Given the description of an element on the screen output the (x, y) to click on. 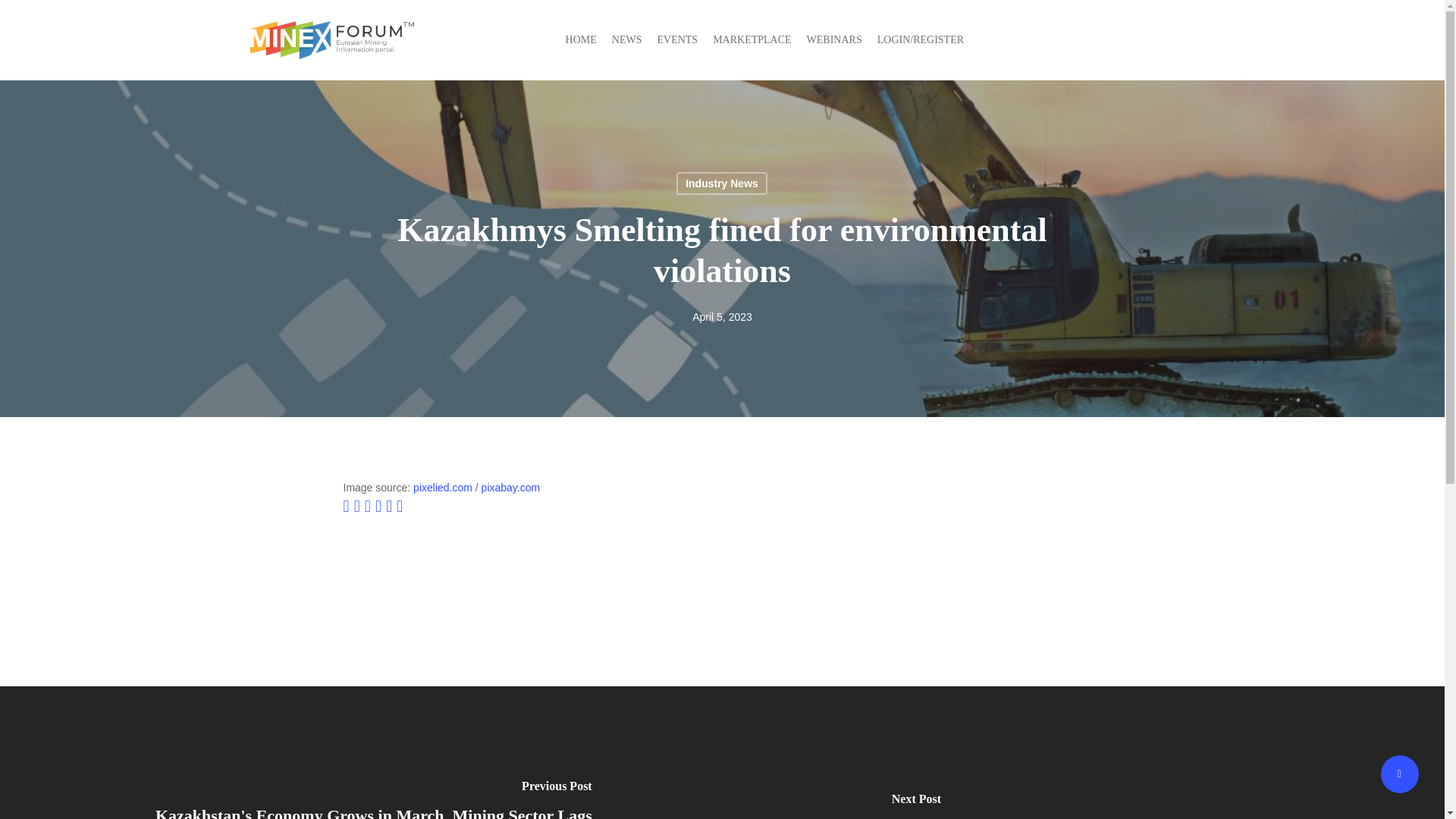
WEBINARS (833, 39)
pixabay.com (510, 487)
search (1145, 39)
pixelied.com (442, 487)
Menu (1184, 39)
MARKETPLACE (751, 39)
EVENTS (676, 39)
HOME (581, 39)
NEWS (626, 39)
Industry News (722, 182)
